Given the description of an element on the screen output the (x, y) to click on. 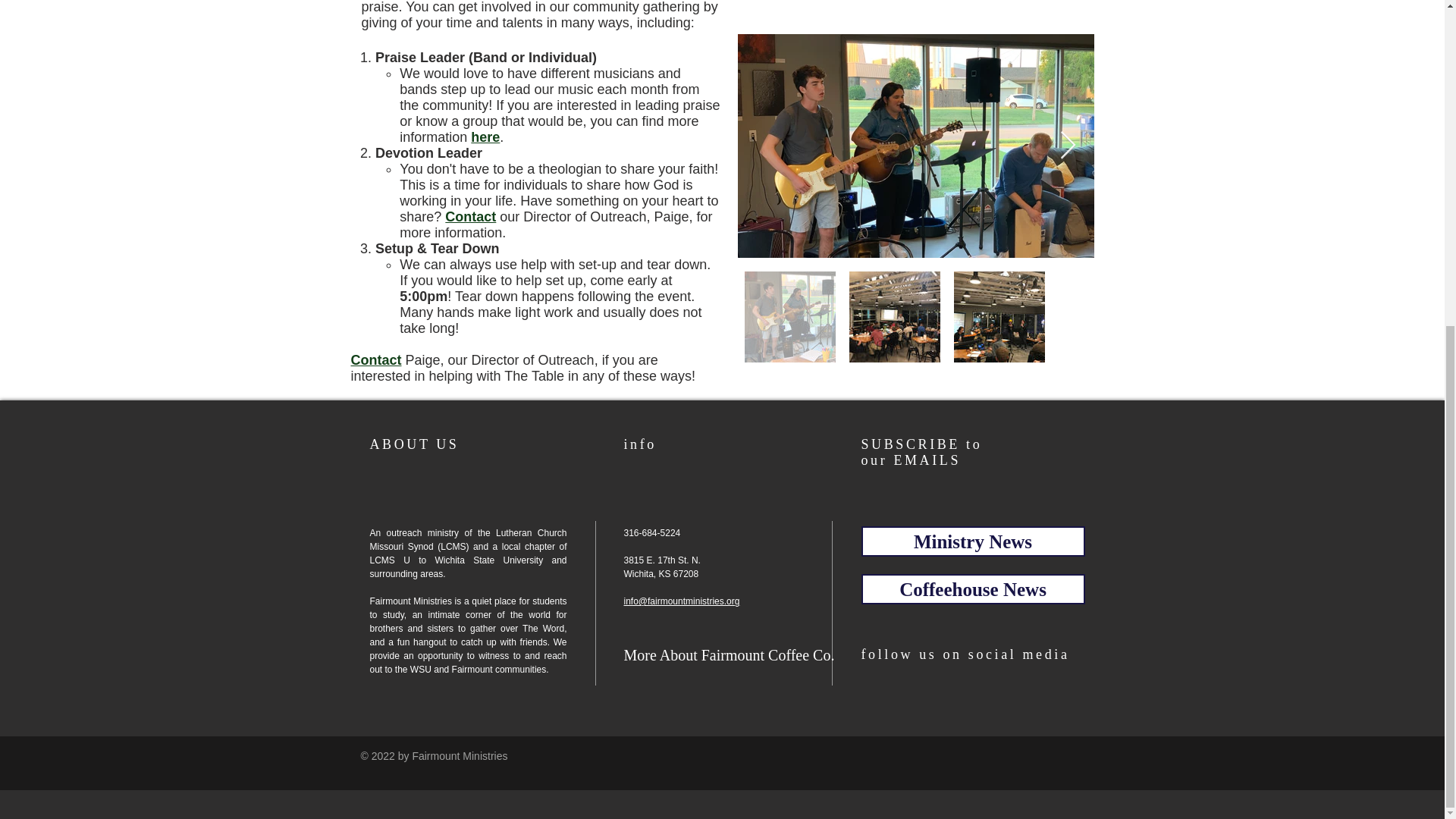
Contact (375, 359)
Coffeehouse News (972, 589)
More About Fairmount Coffee Co. (728, 654)
Ministry News (972, 541)
Contact (470, 216)
here (484, 136)
